Given the description of an element on the screen output the (x, y) to click on. 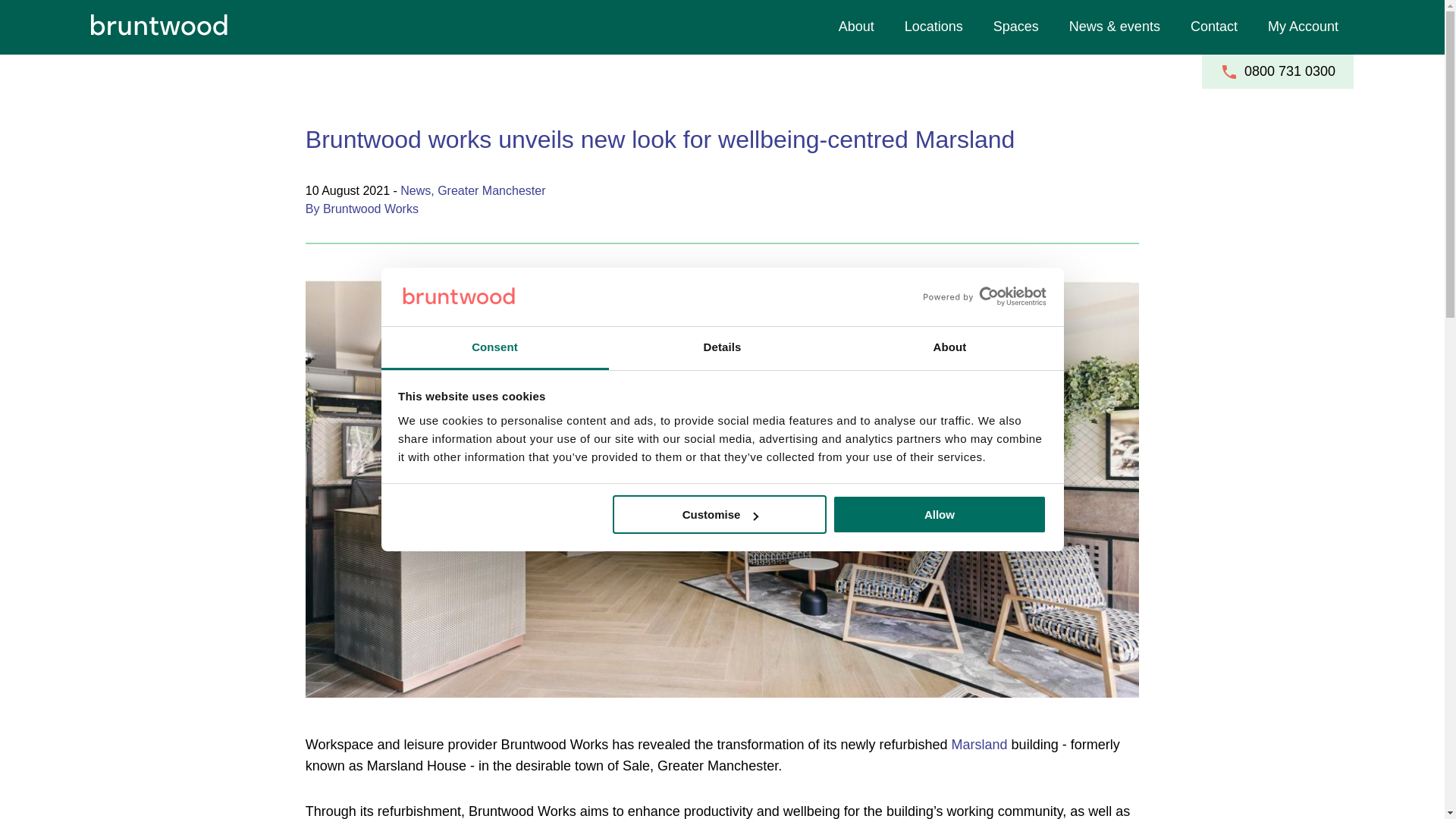
Details (721, 348)
About (948, 348)
Consent (494, 348)
